Given the description of an element on the screen output the (x, y) to click on. 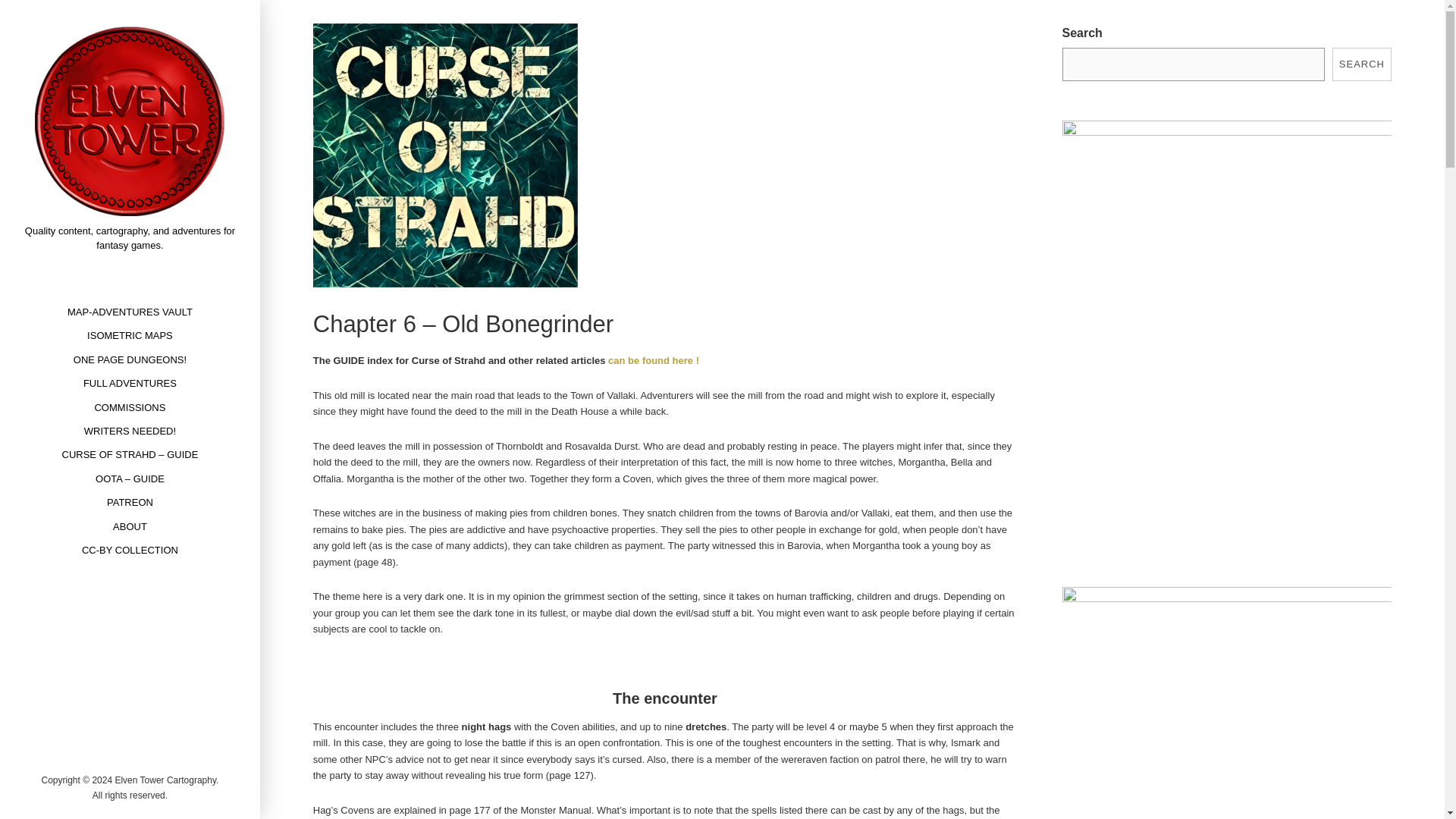
PATREON (130, 502)
FULL ADVENTURES (129, 382)
can be found here ! (653, 360)
MAP-ADVENTURES VAULT (129, 311)
ONE PAGE DUNGEONS! (130, 359)
WRITERS NEEDED! (129, 431)
CC-BY COLLECTION (129, 549)
ISOMETRIC MAPS (129, 335)
SEARCH (1361, 64)
ABOUT (129, 526)
